Given the description of an element on the screen output the (x, y) to click on. 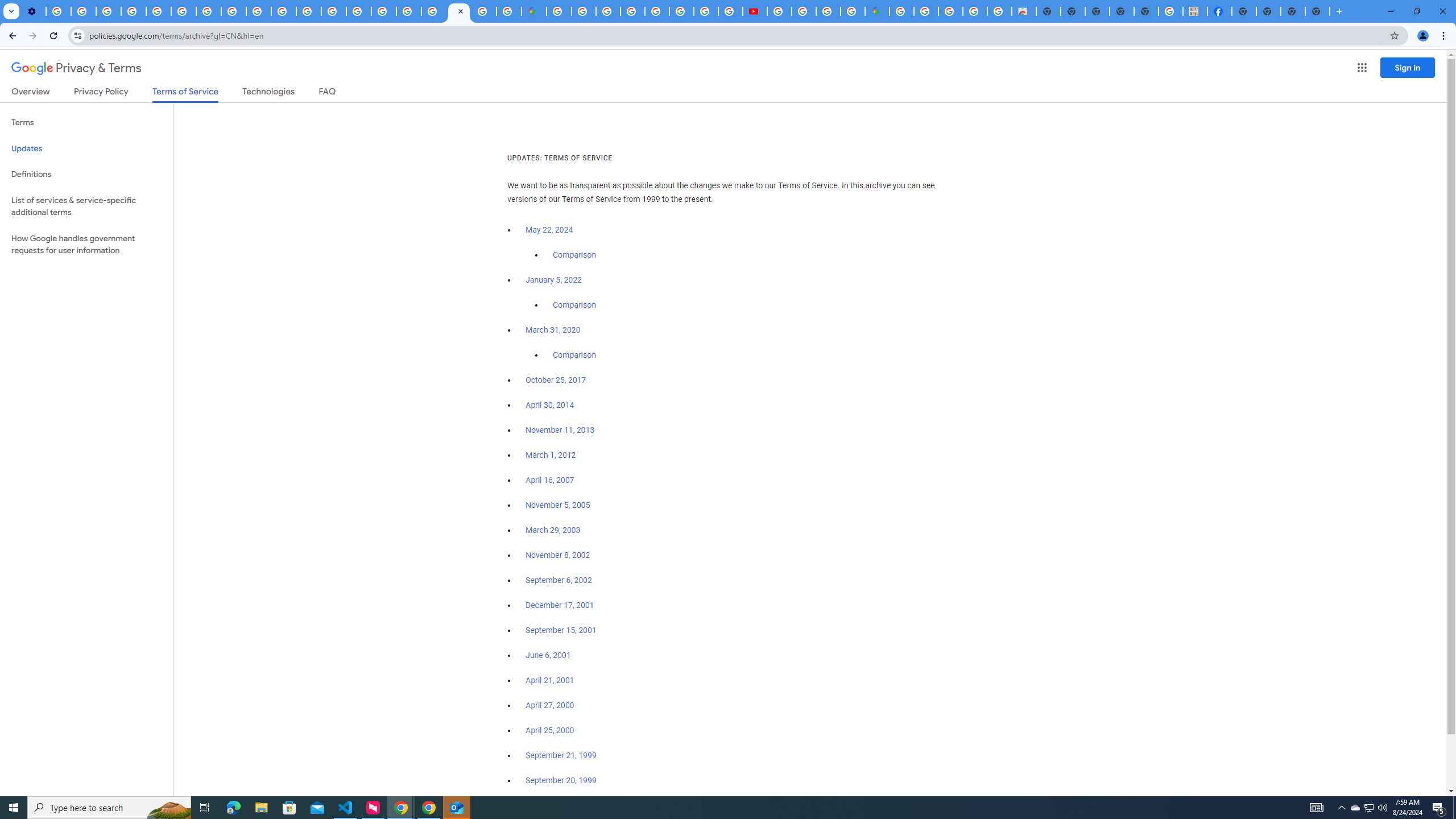
Subscriptions - YouTube (754, 11)
March 1, 2012 (550, 455)
April 27, 2000 (550, 705)
Privacy Checkup (258, 11)
Miley Cyrus | Facebook (1219, 11)
September 20, 1999 (560, 780)
